Given the description of an element on the screen output the (x, y) to click on. 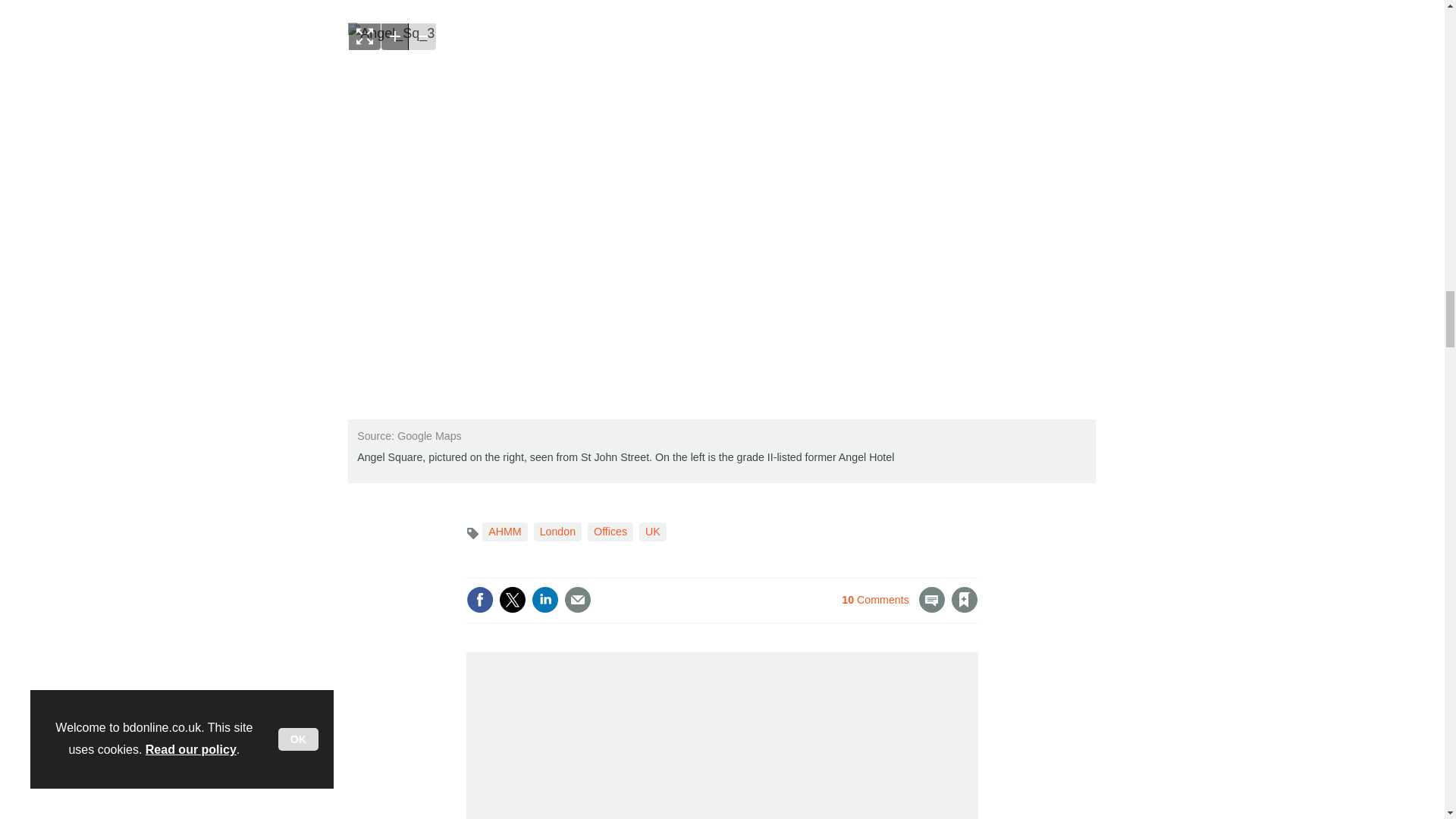
Email this article (577, 599)
Share this on Facebook (479, 599)
Share this on Twitter (512, 599)
3rd party ad content (583, 740)
10 Comments (892, 608)
Share this on Linked in (545, 599)
